Given the description of an element on the screen output the (x, y) to click on. 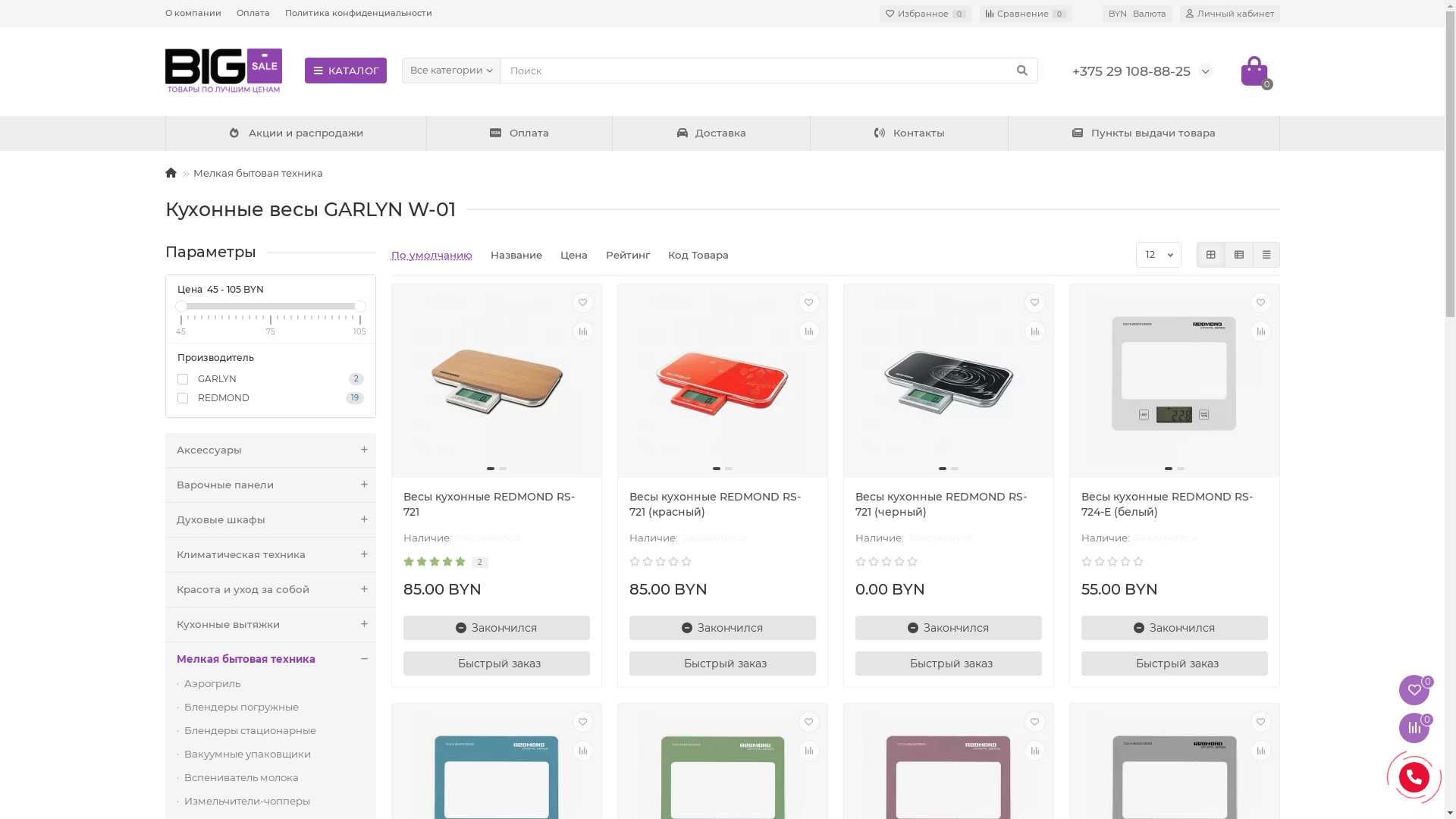
BIGSALE Element type: hover (223, 70)
0 Element type: text (1253, 70)
2 Element type: text (479, 561)
